Given the description of an element on the screen output the (x, y) to click on. 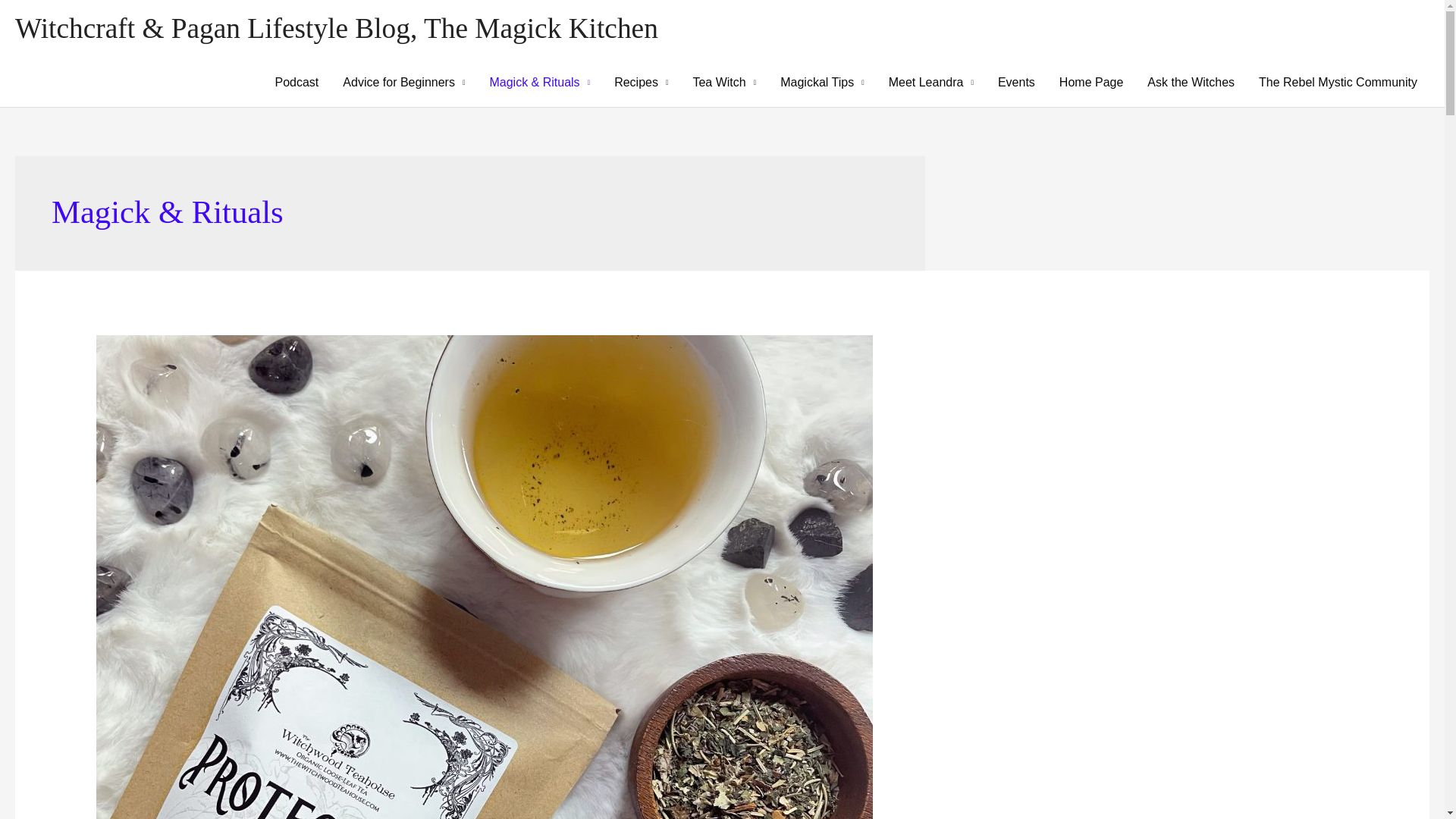
Podcast (296, 82)
Advice for Beginners (403, 82)
